Given the description of an element on the screen output the (x, y) to click on. 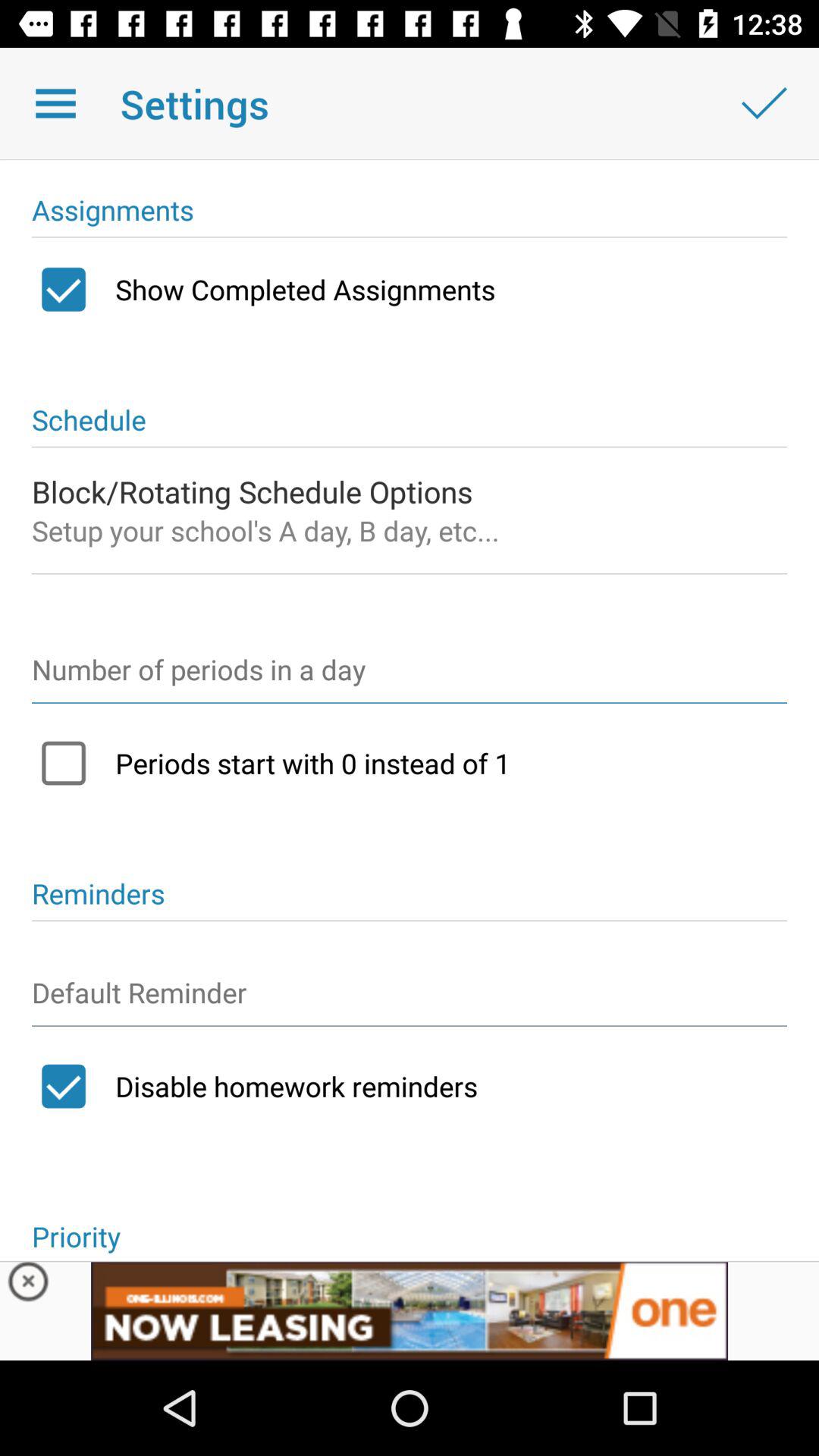
insert number of periods in a day (409, 676)
